Given the description of an element on the screen output the (x, y) to click on. 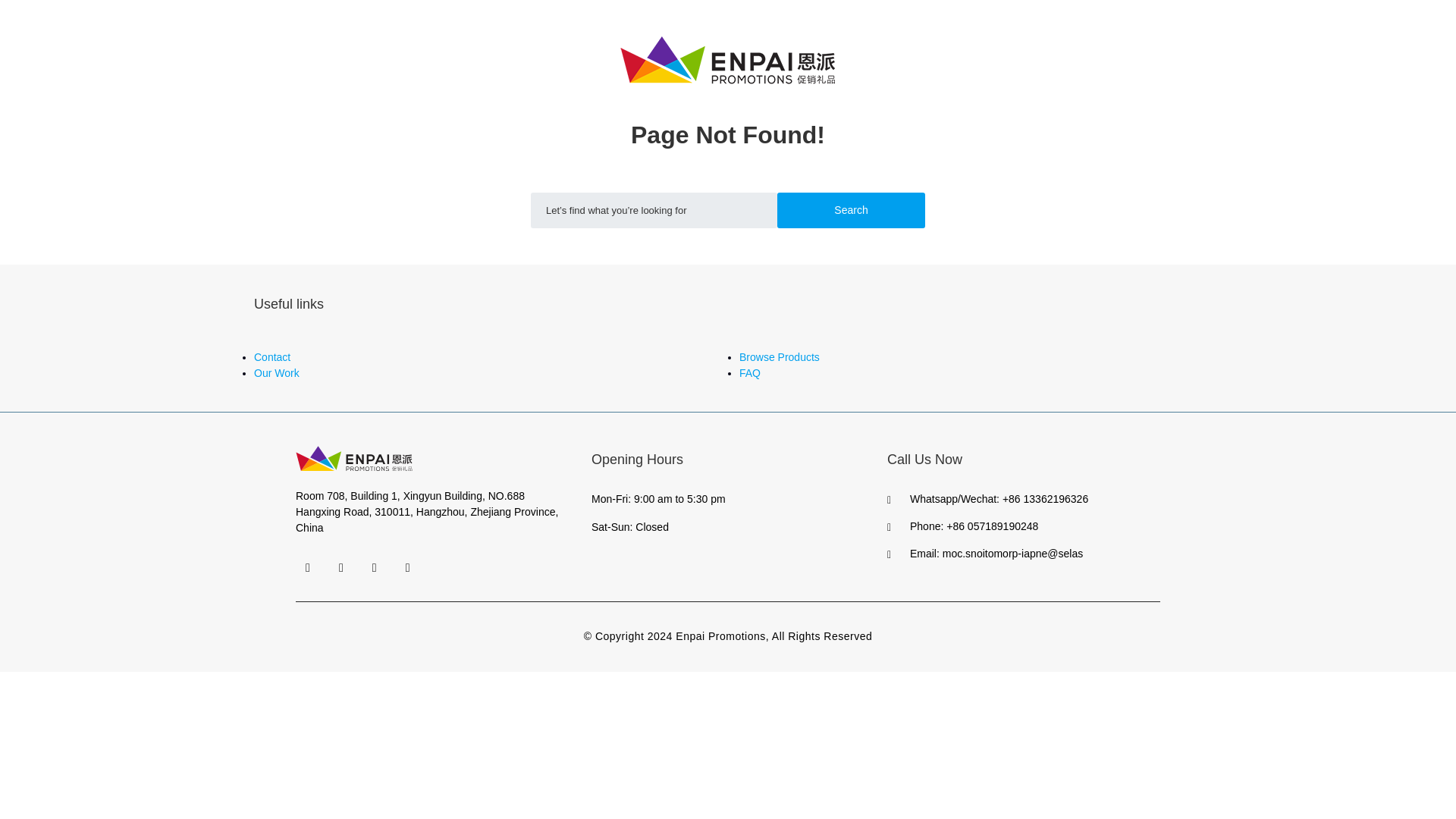
Our Work (276, 372)
Search (850, 210)
FAQ (749, 372)
Contact (271, 357)
Browse Products (779, 357)
